Given the description of an element on the screen output the (x, y) to click on. 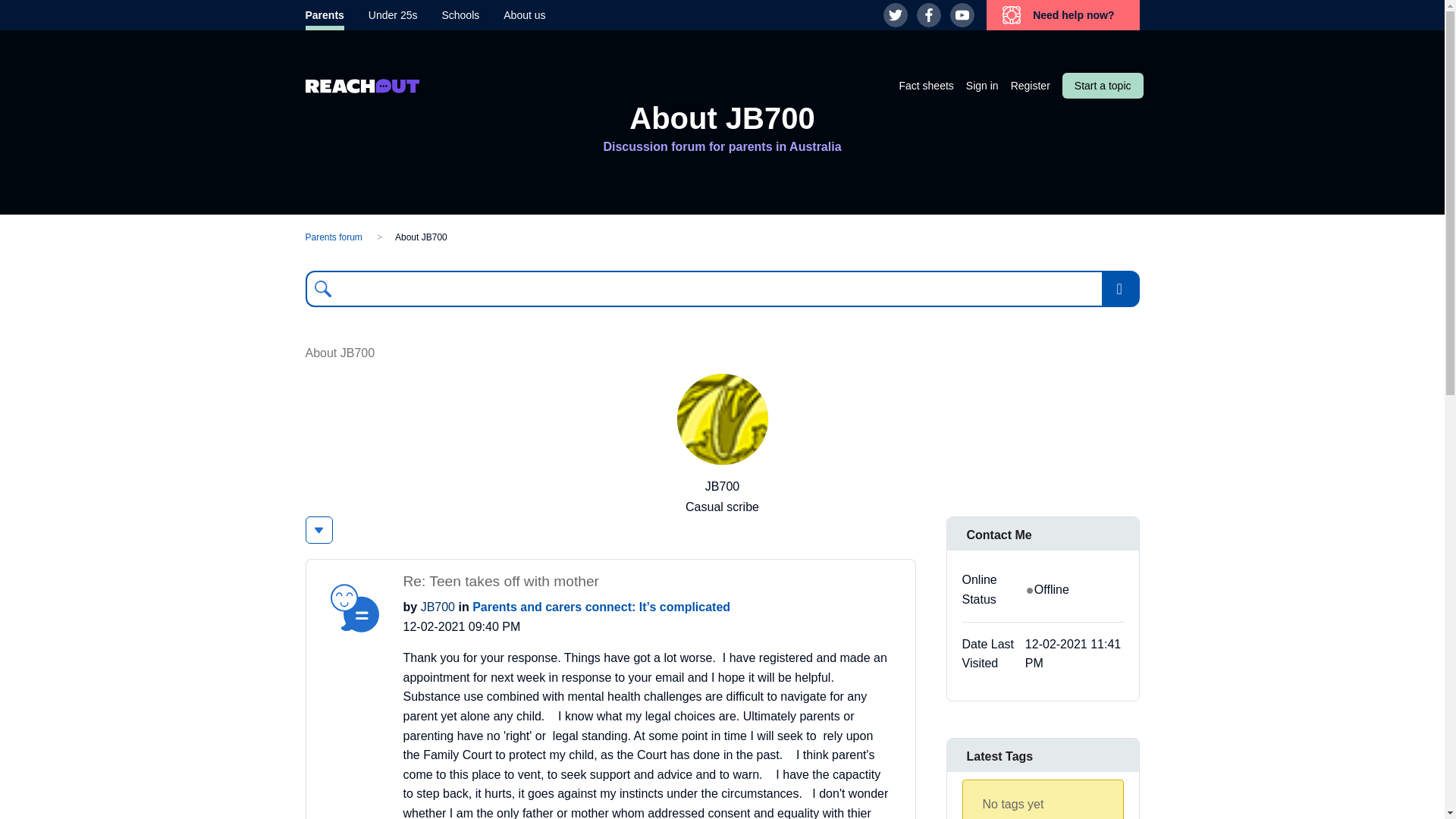
Search (321, 289)
Twitter (895, 15)
Topic (354, 607)
Reachout Parent Forums (361, 90)
Go To (1120, 289)
Show option menu (317, 529)
Schools (460, 15)
About us (523, 15)
Sign in (982, 85)
Need help now? (1062, 15)
